Given the description of an element on the screen output the (x, y) to click on. 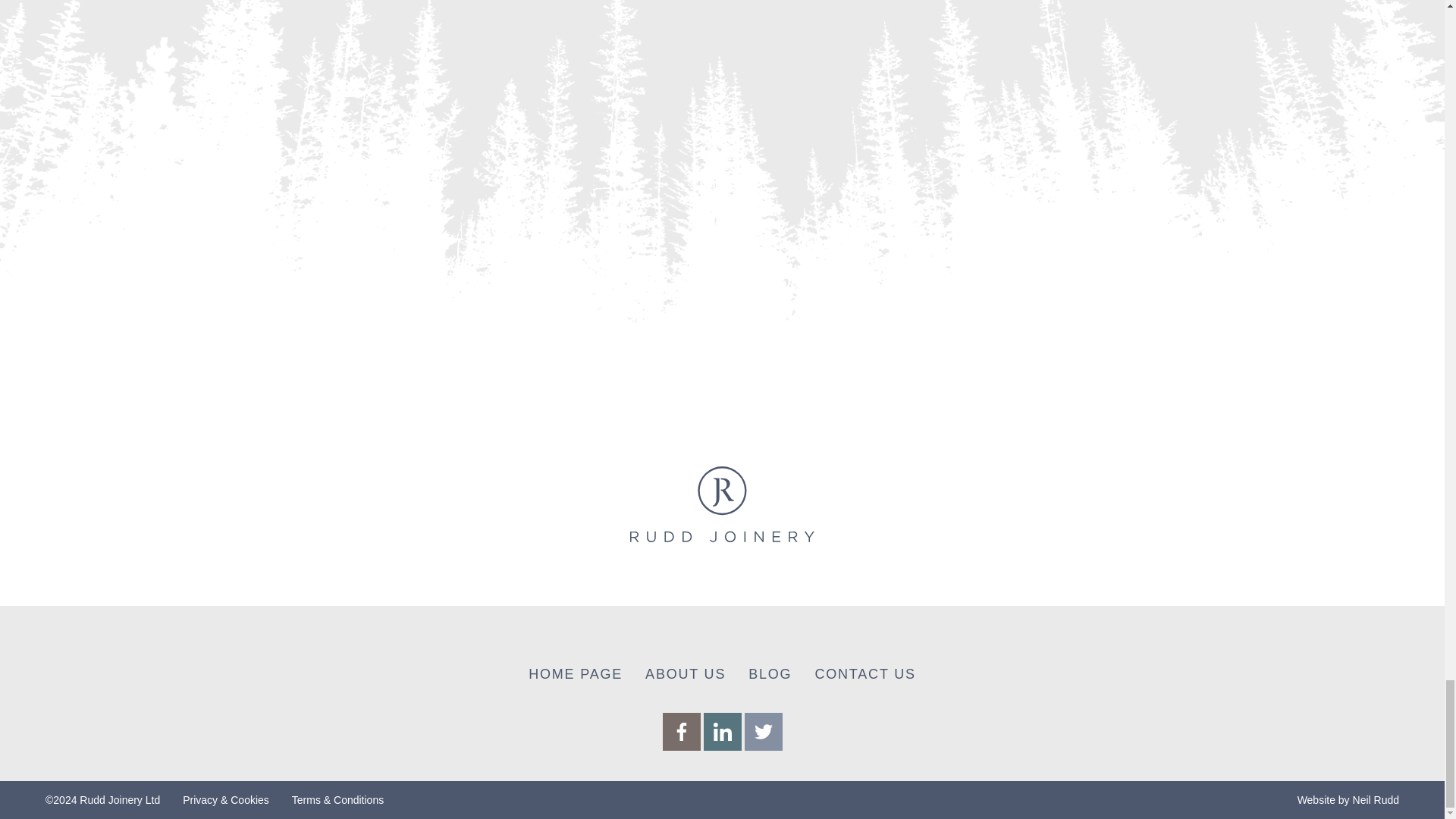
BLOG (770, 673)
ABOUT US (685, 673)
HOME PAGE (575, 673)
CONTACT US (864, 673)
